Given the description of an element on the screen output the (x, y) to click on. 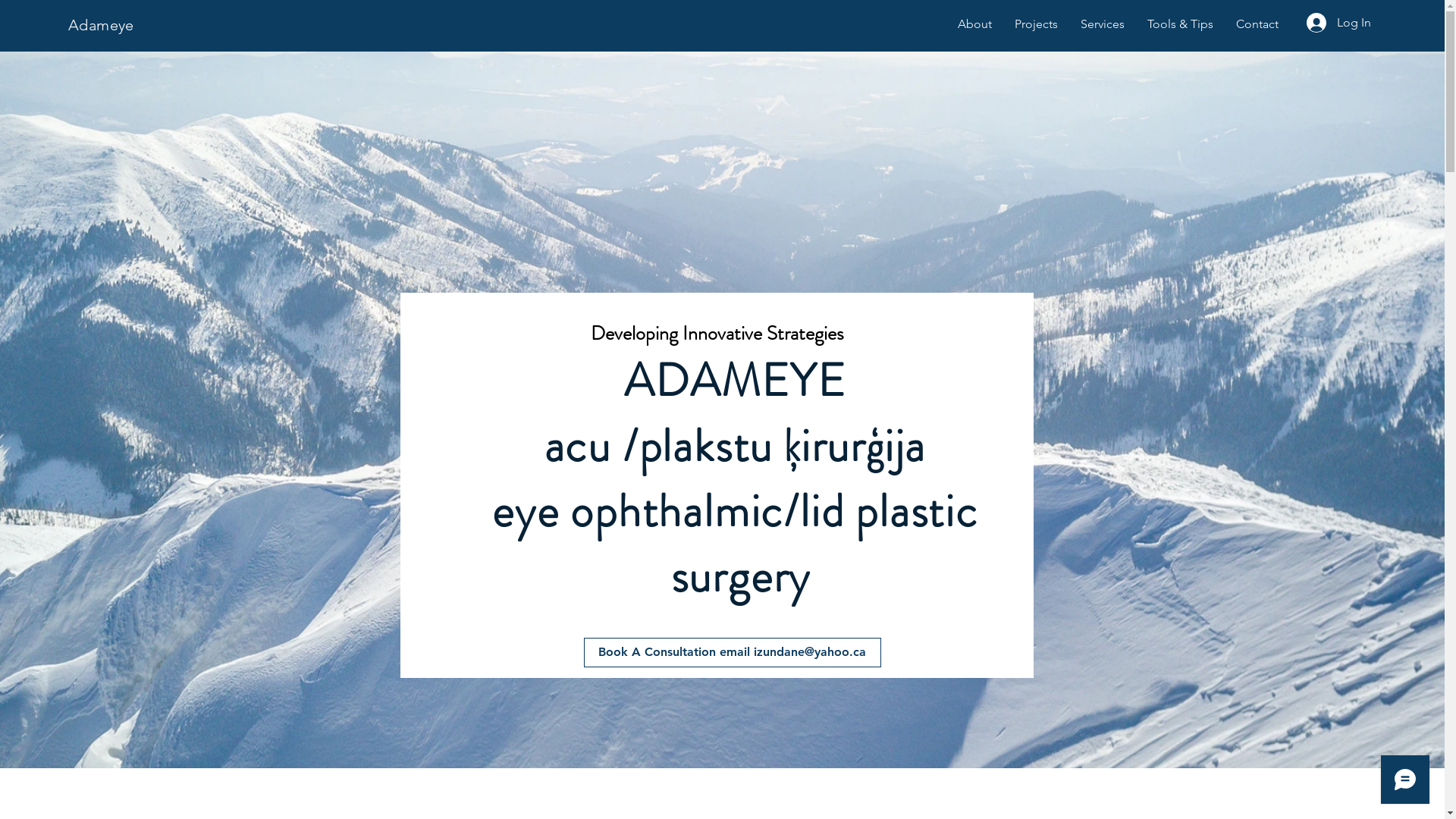
Book A Consultation email izundane@yahoo.ca Element type: text (732, 652)
Projects Element type: text (1036, 24)
Adameye Element type: text (101, 24)
Contact Element type: text (1256, 24)
Tools & Tips Element type: text (1179, 24)
Log In Element type: text (1338, 22)
About Element type: text (974, 24)
Services Element type: text (1102, 24)
